Given the description of an element on the screen output the (x, y) to click on. 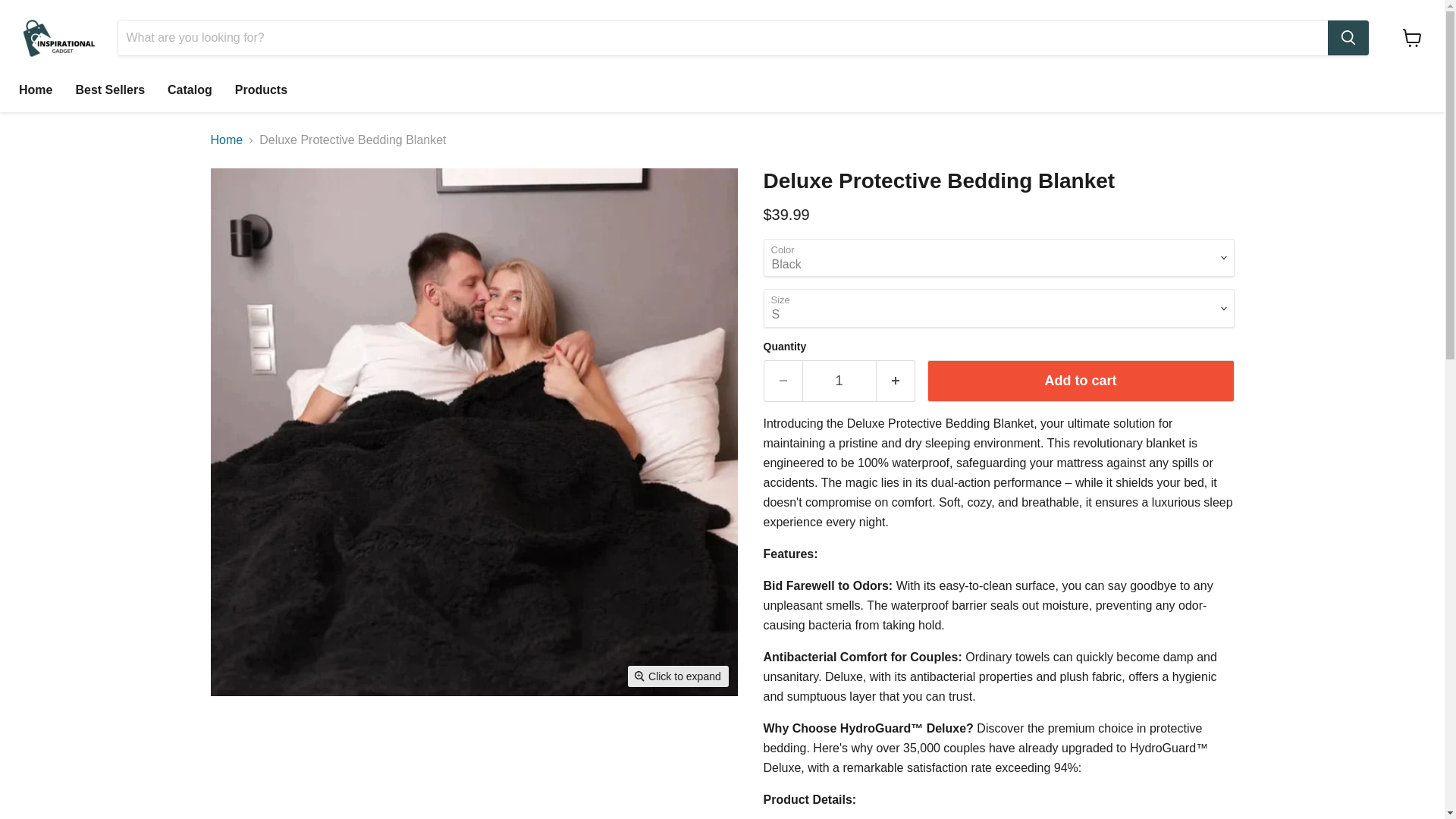
Home (35, 90)
Click to expand (678, 676)
Products (261, 90)
Best Sellers (109, 90)
Add to cart (1079, 381)
1 (839, 381)
View cart (1411, 37)
Home (227, 140)
Catalog (189, 90)
